Given the description of an element on the screen output the (x, y) to click on. 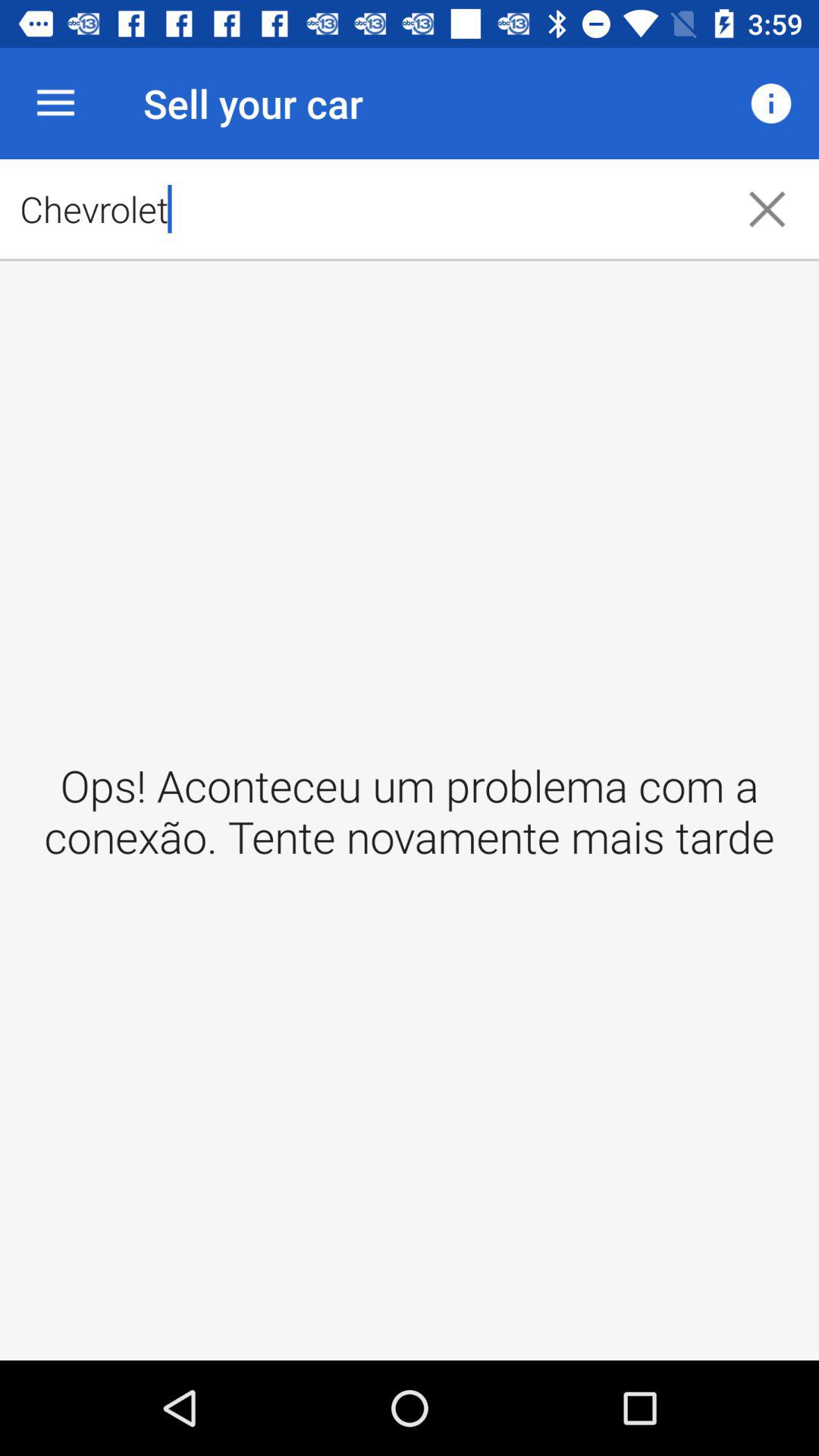
close search box clear search box (767, 208)
